Given the description of an element on the screen output the (x, y) to click on. 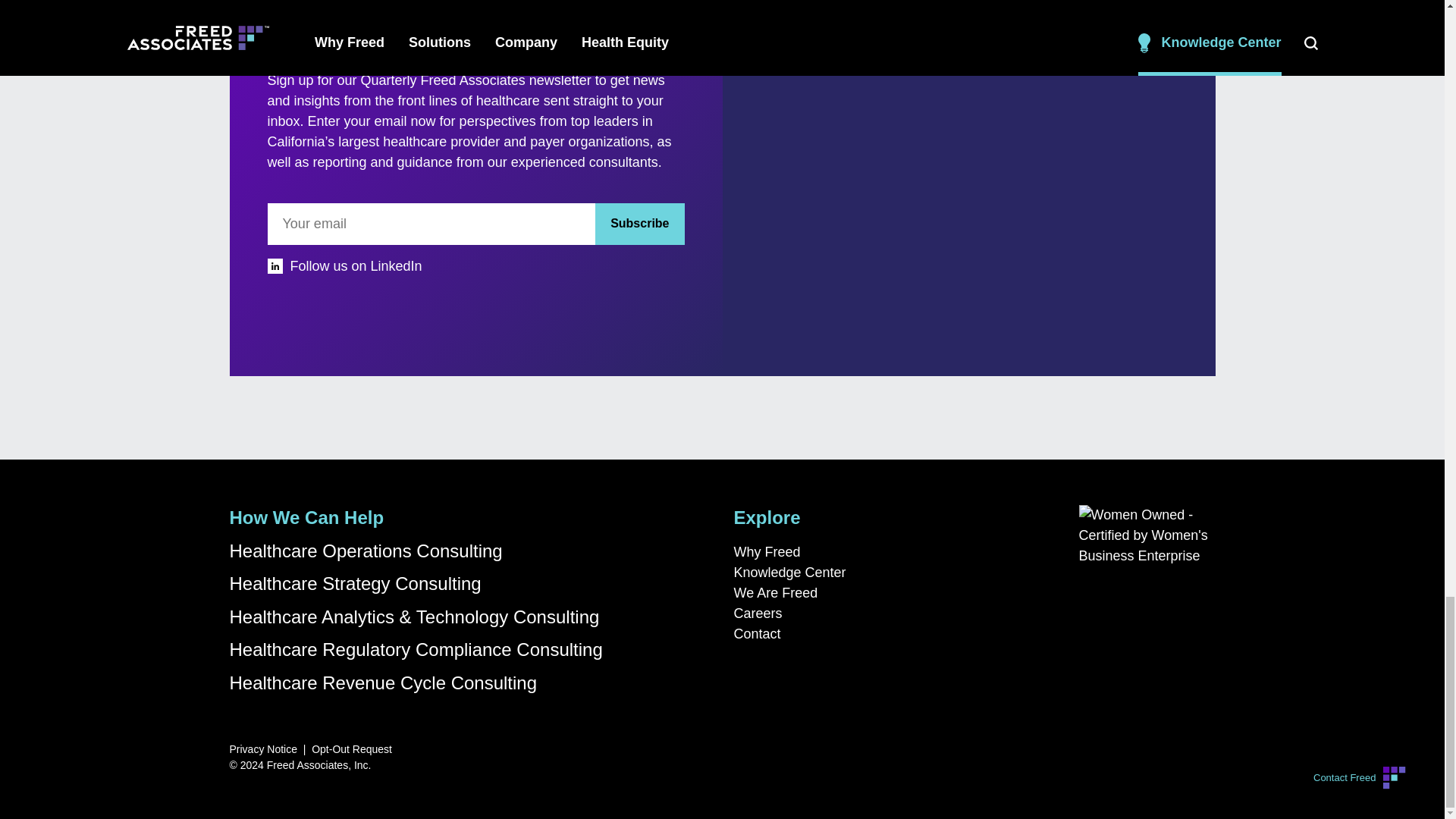
Follow us on LinkedIn (475, 266)
